Given the description of an element on the screen output the (x, y) to click on. 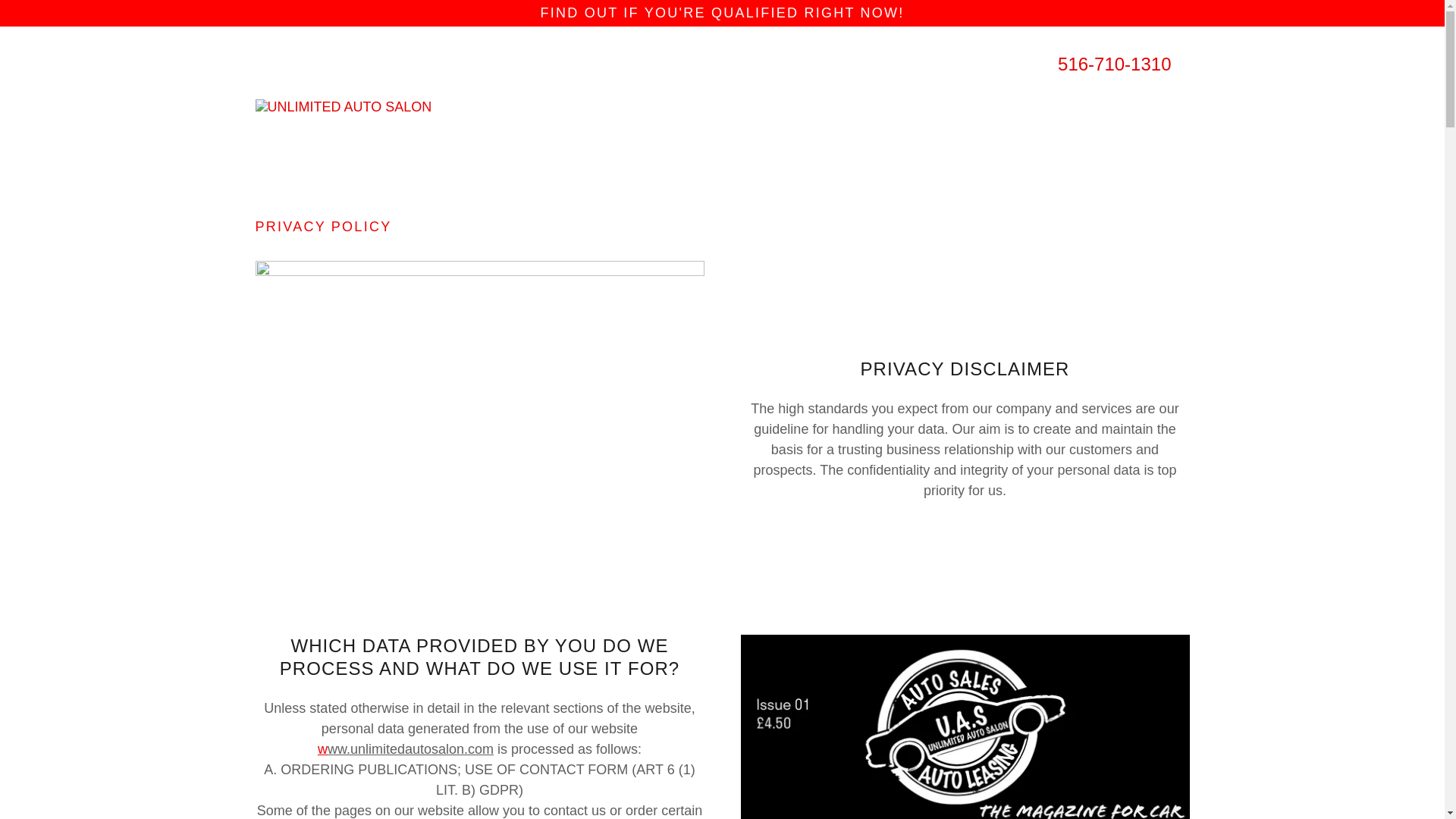
UNLIMITED AUTO SALON (342, 105)
516-710-1310 (1114, 64)
